Given the description of an element on the screen output the (x, y) to click on. 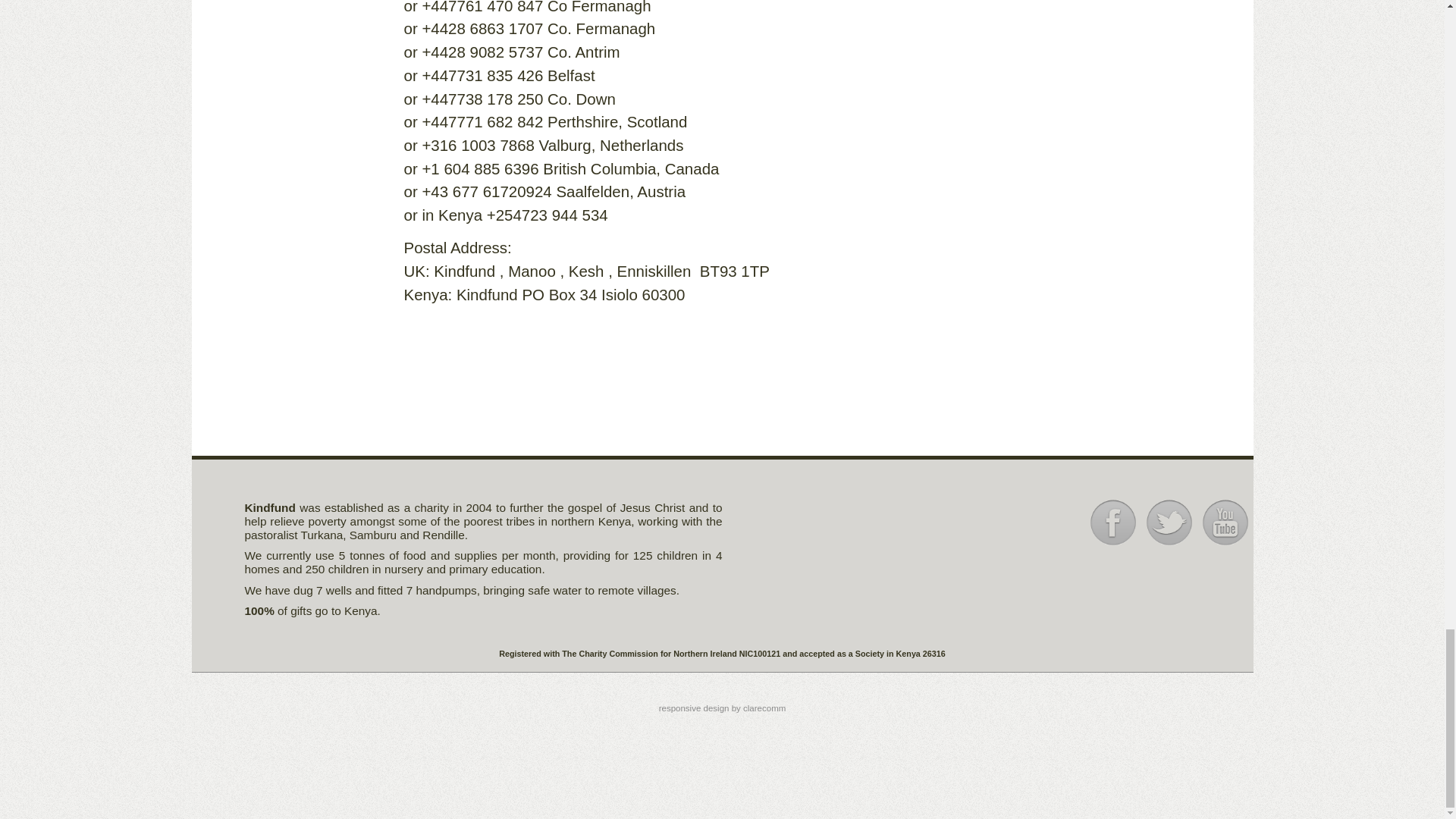
responsive design by clarecomm (722, 707)
